Given the description of an element on the screen output the (x, y) to click on. 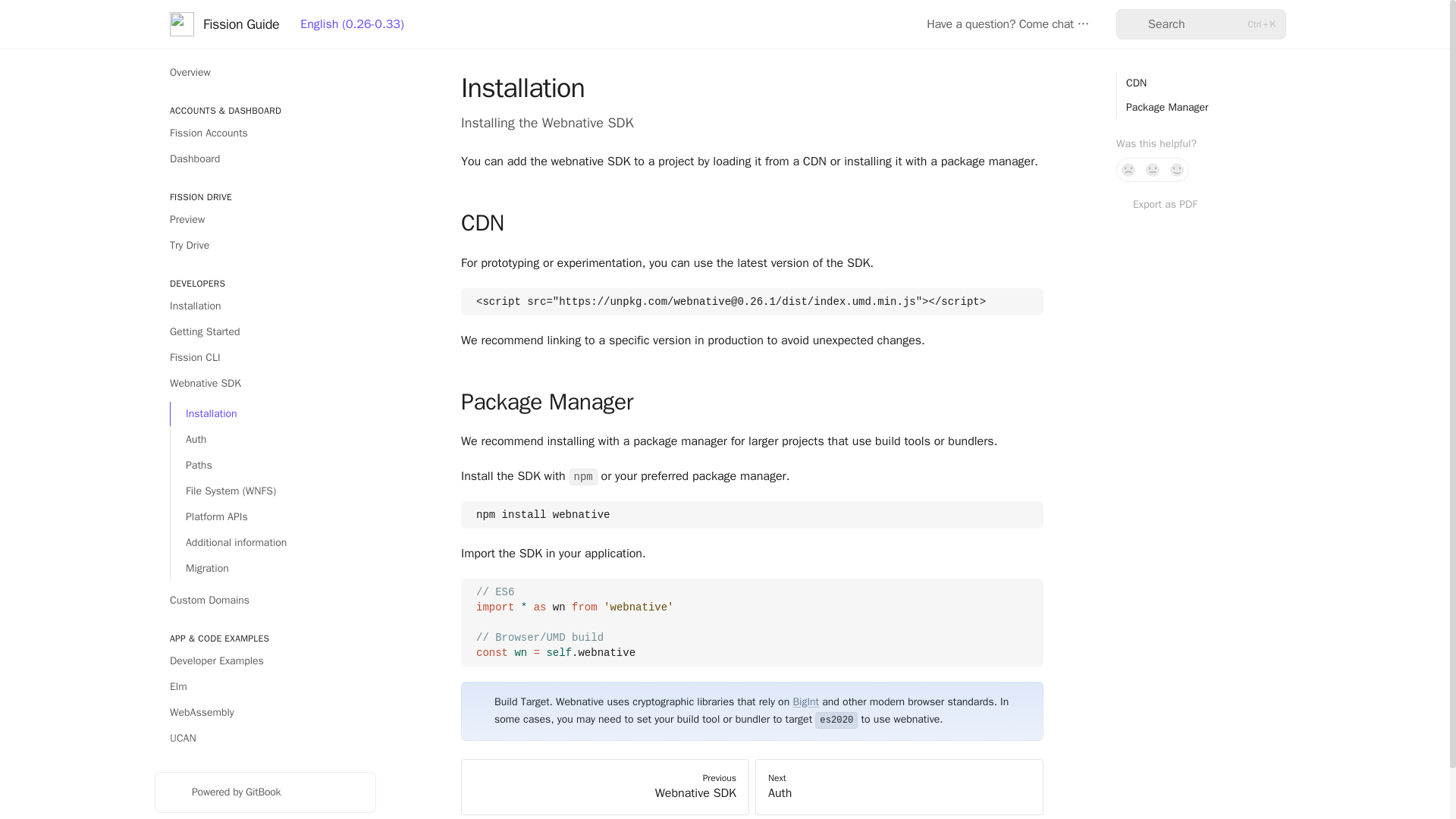
No (1128, 169)
Fission Guide (224, 24)
Preview (264, 219)
Overview (264, 72)
Custom Domains (264, 600)
Auth (272, 439)
Platform APIs (272, 517)
Installation (264, 306)
Paths (272, 465)
Installation (272, 413)
